Given the description of an element on the screen output the (x, y) to click on. 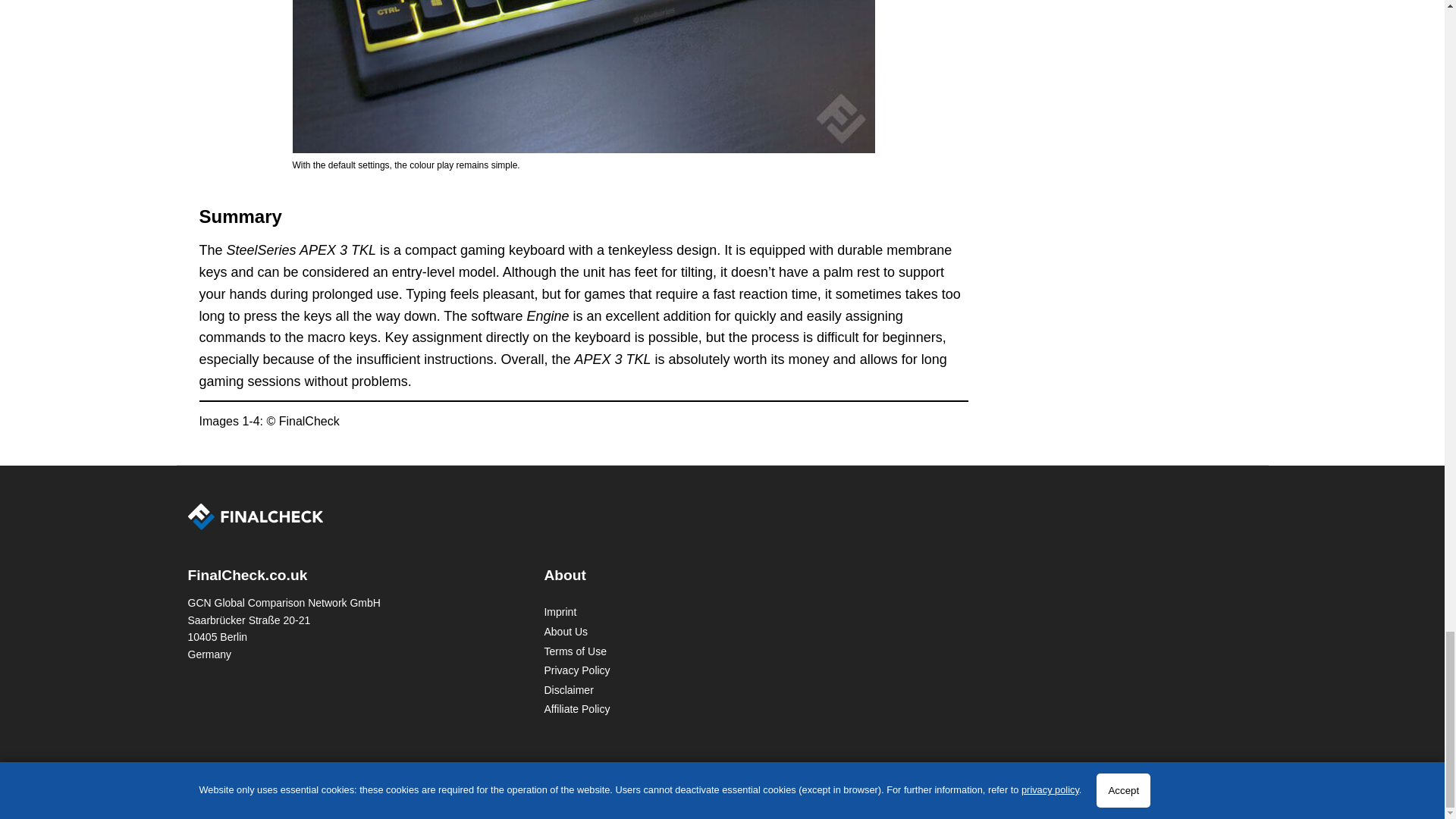
Privacy Policy (576, 670)
here (753, 776)
Imprint (559, 612)
Terms of Use (574, 651)
Affiliate Policy (576, 708)
Disclaimer (567, 689)
About Us (565, 631)
